Given the description of an element on the screen output the (x, y) to click on. 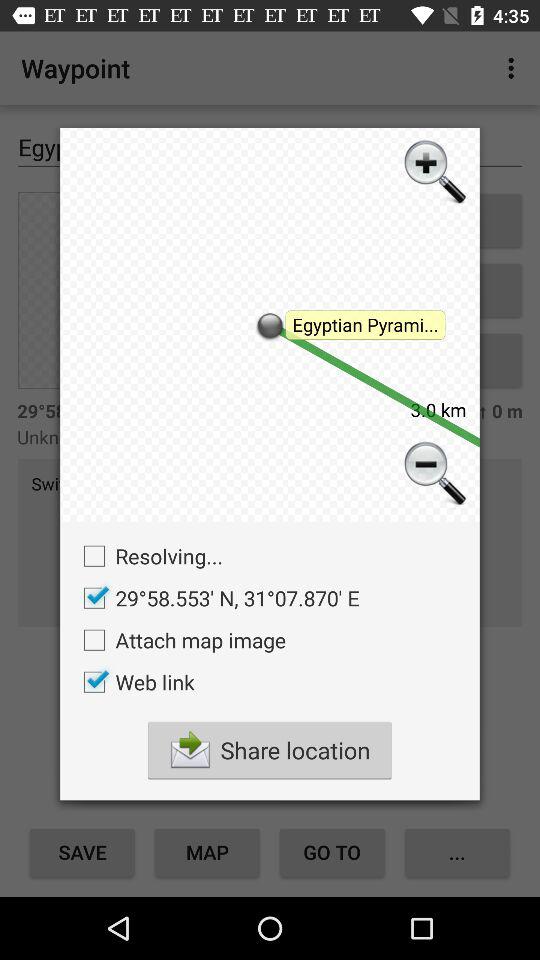
tap the item below the 29 58 553 icon (179, 640)
